Given the description of an element on the screen output the (x, y) to click on. 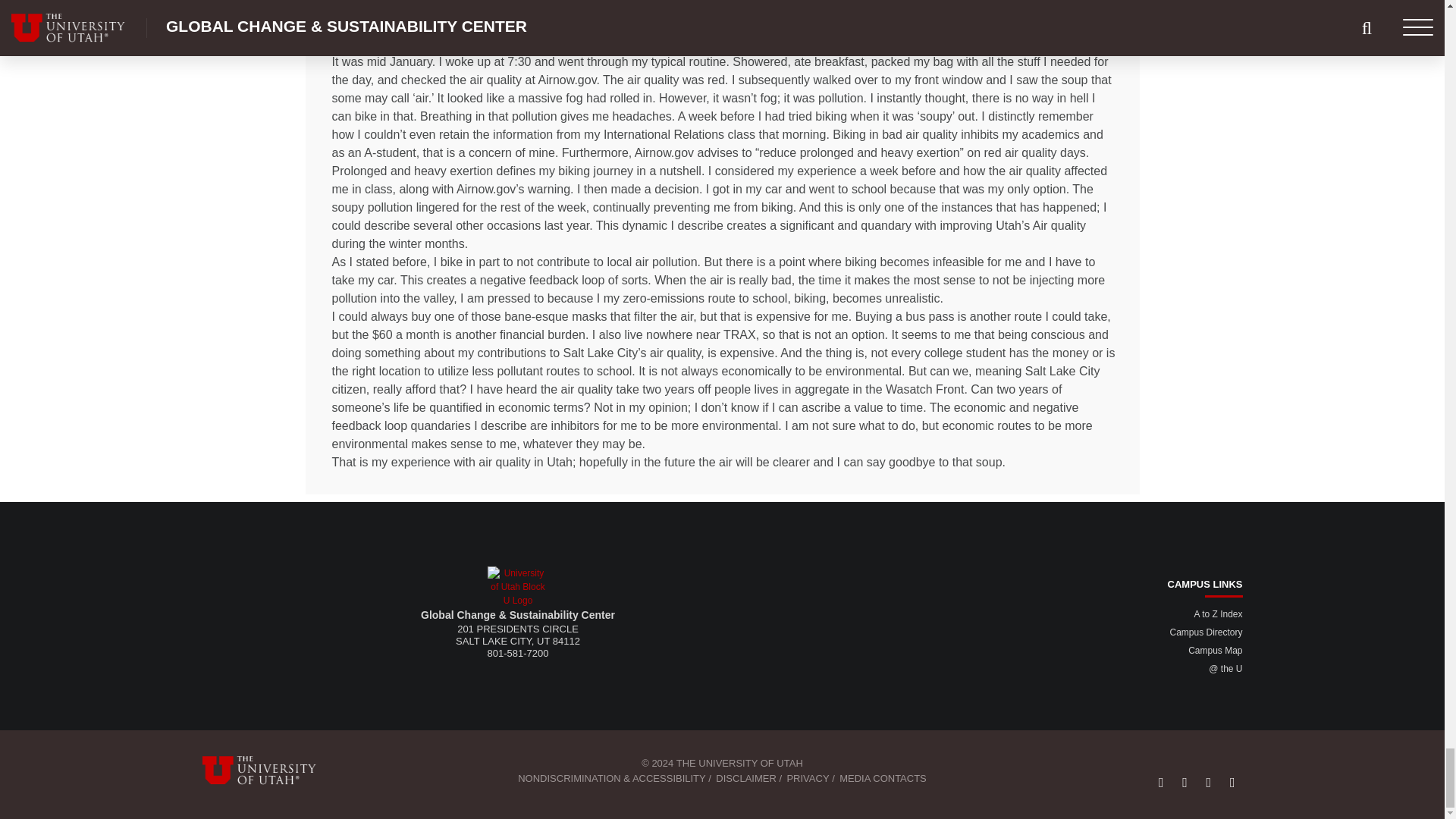
Campus Directory (1205, 632)
University of Utah (269, 769)
A to Z Index (1217, 614)
Campus Map (1214, 650)
University of Utah (517, 586)
